Given the description of an element on the screen output the (x, y) to click on. 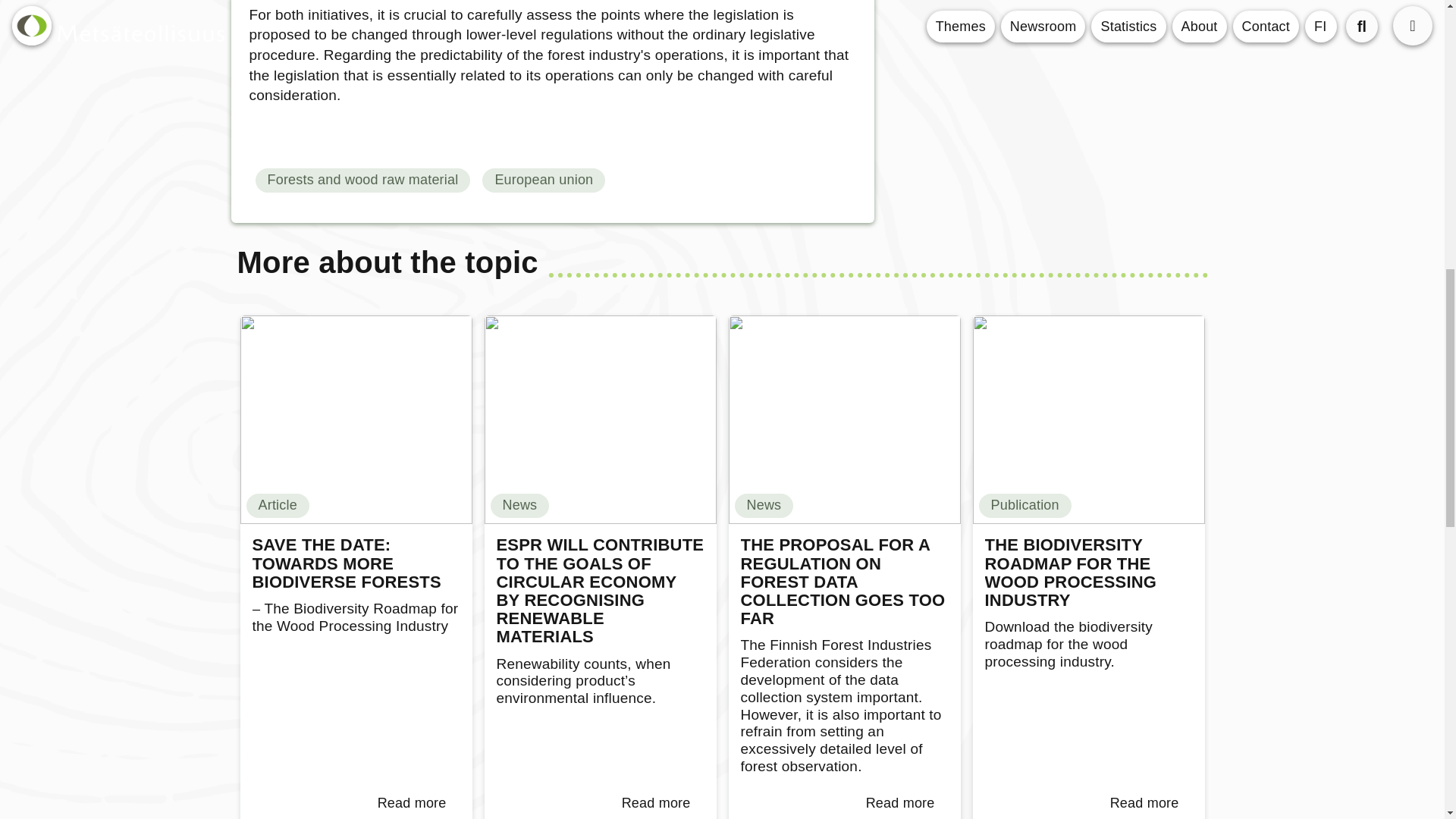
Read more (1144, 803)
Read more (412, 803)
SAVE THE DATE: TOWARDS MORE BIODIVERSE FORESTS (355, 563)
THE BIODIVERSITY ROADMAP FOR THE WOOD PROCESSING INDUSTRY (1088, 572)
Read more (656, 803)
Read more (900, 803)
